Given the description of an element on the screen output the (x, y) to click on. 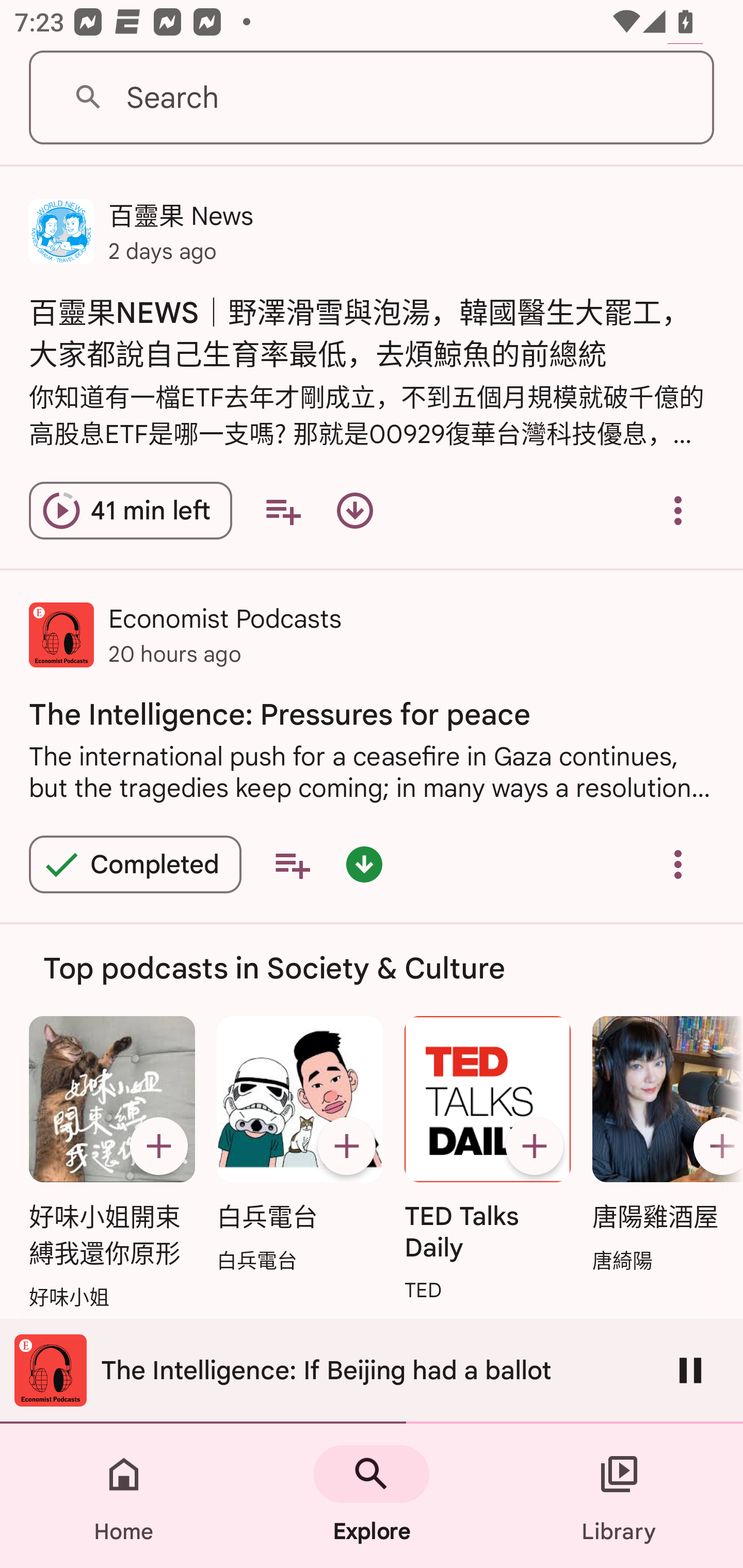
Search (371, 97)
Add to your queue (282, 510)
Download episode (354, 510)
Overflow menu (677, 510)
Add to your queue (291, 864)
Episode downloaded - double tap for options (364, 864)
Overflow menu (677, 864)
好味小姐開束縛我還你原形 Subscribe 好味小姐開束縛我還你原形 好味小姐 (111, 1164)
白兵電台 Subscribe 白兵電台 白兵電台 (299, 1145)
TED Talks Daily Subscribe TED Talks Daily TED (487, 1160)
唐陽雞酒屋 Subscribe 唐陽雞酒屋 唐綺陽 (662, 1145)
Subscribe (158, 1146)
Subscribe (346, 1146)
Subscribe (534, 1146)
Subscribe (714, 1146)
Pause (690, 1370)
Home (123, 1495)
Library (619, 1495)
